Given the description of an element on the screen output the (x, y) to click on. 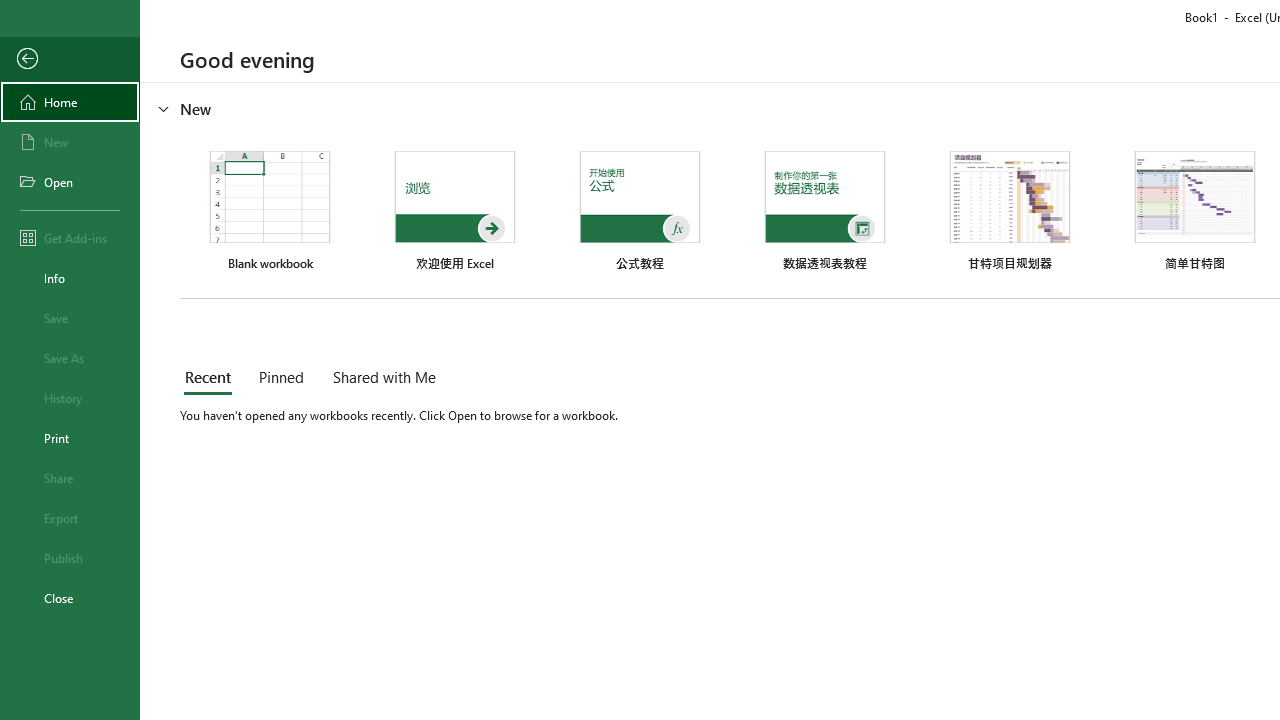
Blank workbook (269, 211)
Shared with Me (379, 378)
Save As (69, 357)
Export (69, 517)
Back (69, 59)
Get Add-ins (69, 237)
Print (69, 437)
Info (69, 277)
Publish (69, 557)
